Given the description of an element on the screen output the (x, y) to click on. 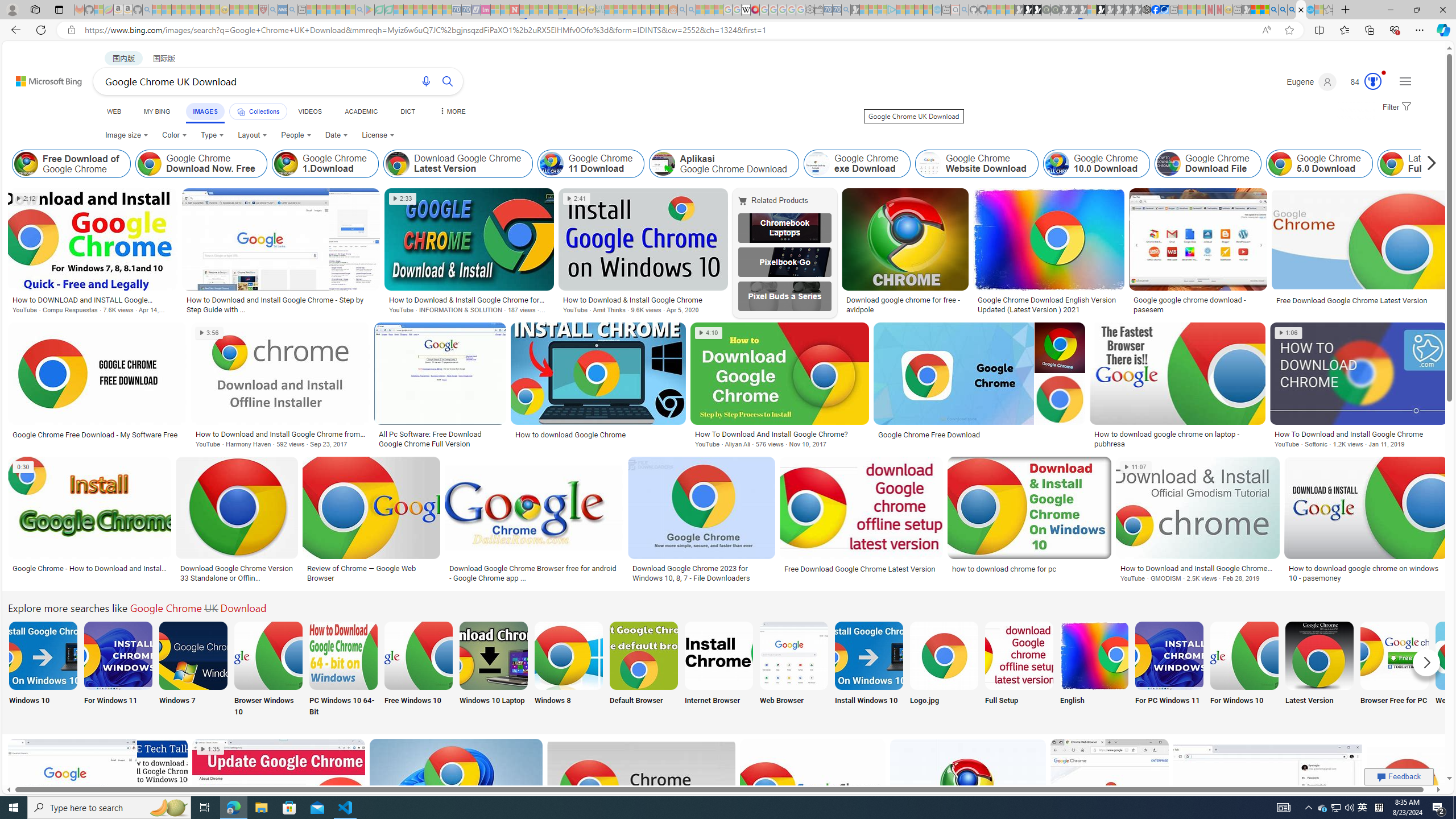
How To Download And Install Google Chrome? (779, 433)
English (1093, 669)
Pixel Buds a Series (784, 296)
Google Chrome Download Windows 7 (192, 654)
Favorites - Sleeping (1328, 9)
Google Chrome Free Download - My Software FreeSave (98, 387)
Google Chrome Download Now. Free (200, 163)
Google Chrome Download in Windows 10 Laptop (493, 654)
Google Chrome 5.0 Download (1280, 163)
